Given the description of an element on the screen output the (x, y) to click on. 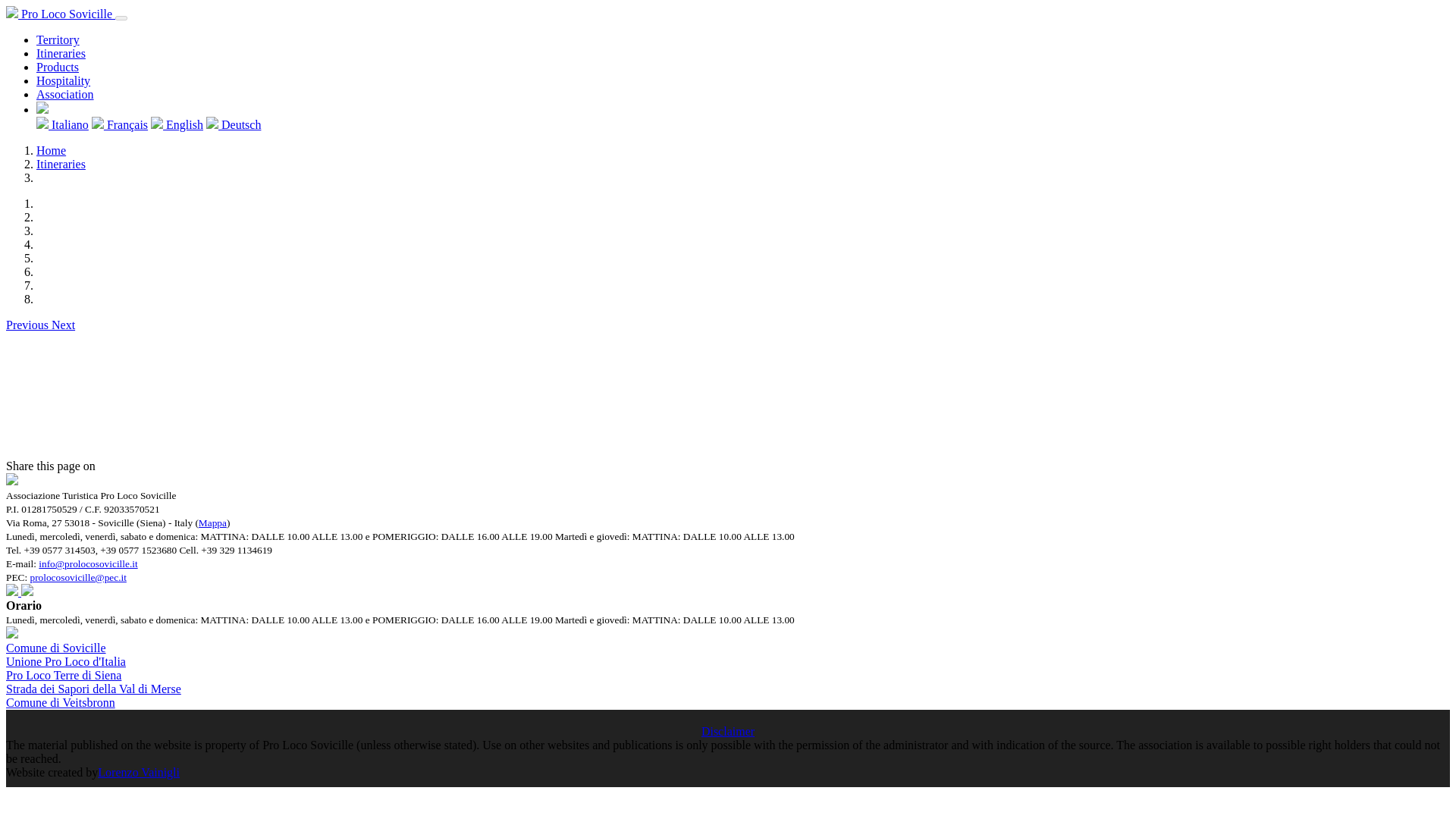
Itineraries (60, 164)
Disclaimer (727, 730)
Hospitality (63, 80)
English (177, 124)
Lorenzo Vainigli (138, 771)
Home (50, 150)
Italiano (62, 124)
Association (65, 93)
Itineraries (60, 52)
Pro Loco Sovicille (60, 13)
Mappa (212, 522)
Next (62, 324)
Deutsch (233, 124)
Territory (58, 39)
Previous (27, 324)
